Given the description of an element on the screen output the (x, y) to click on. 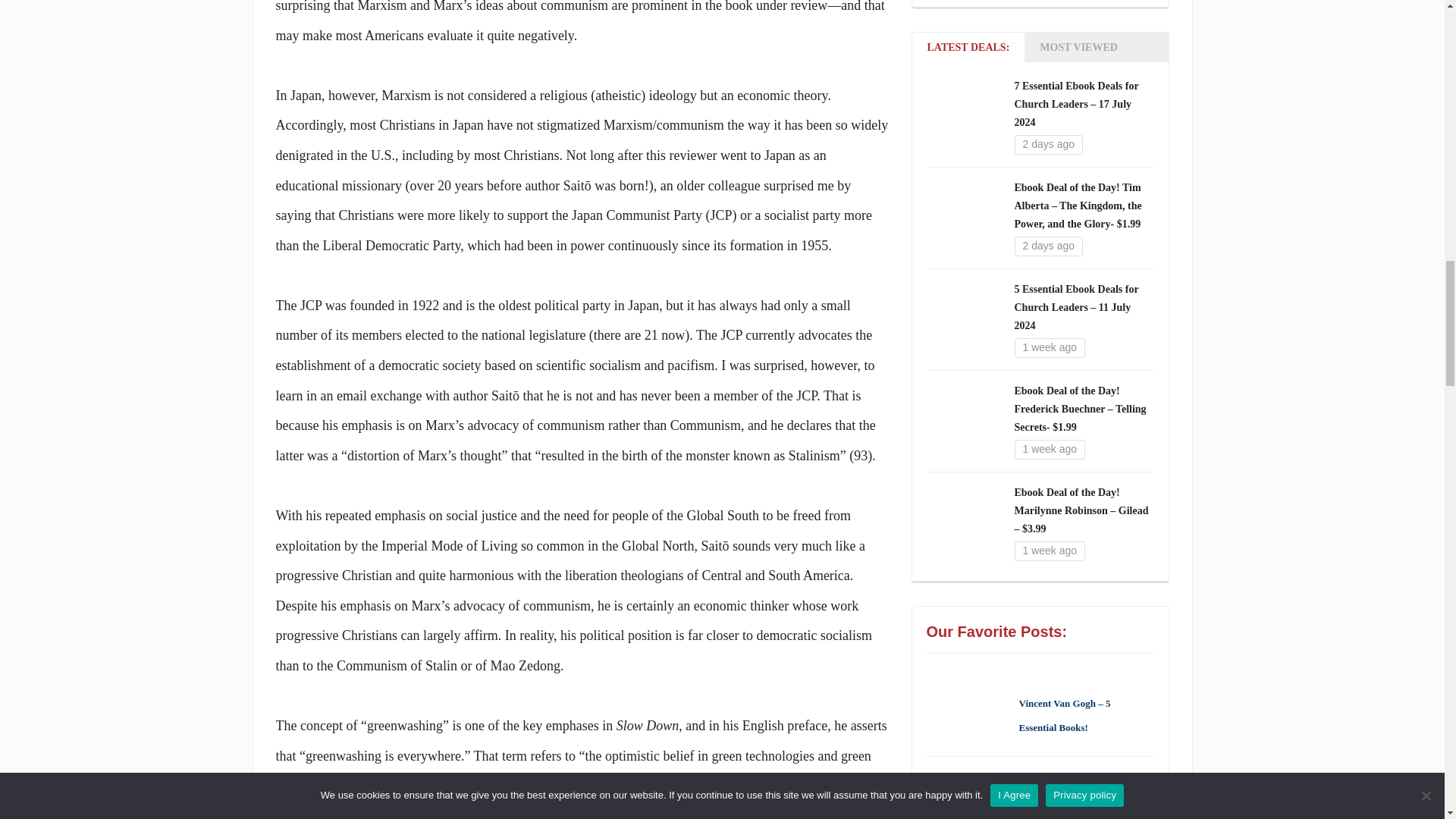
Most Viewed (1078, 47)
Latest Deals: (968, 47)
